Given the description of an element on the screen output the (x, y) to click on. 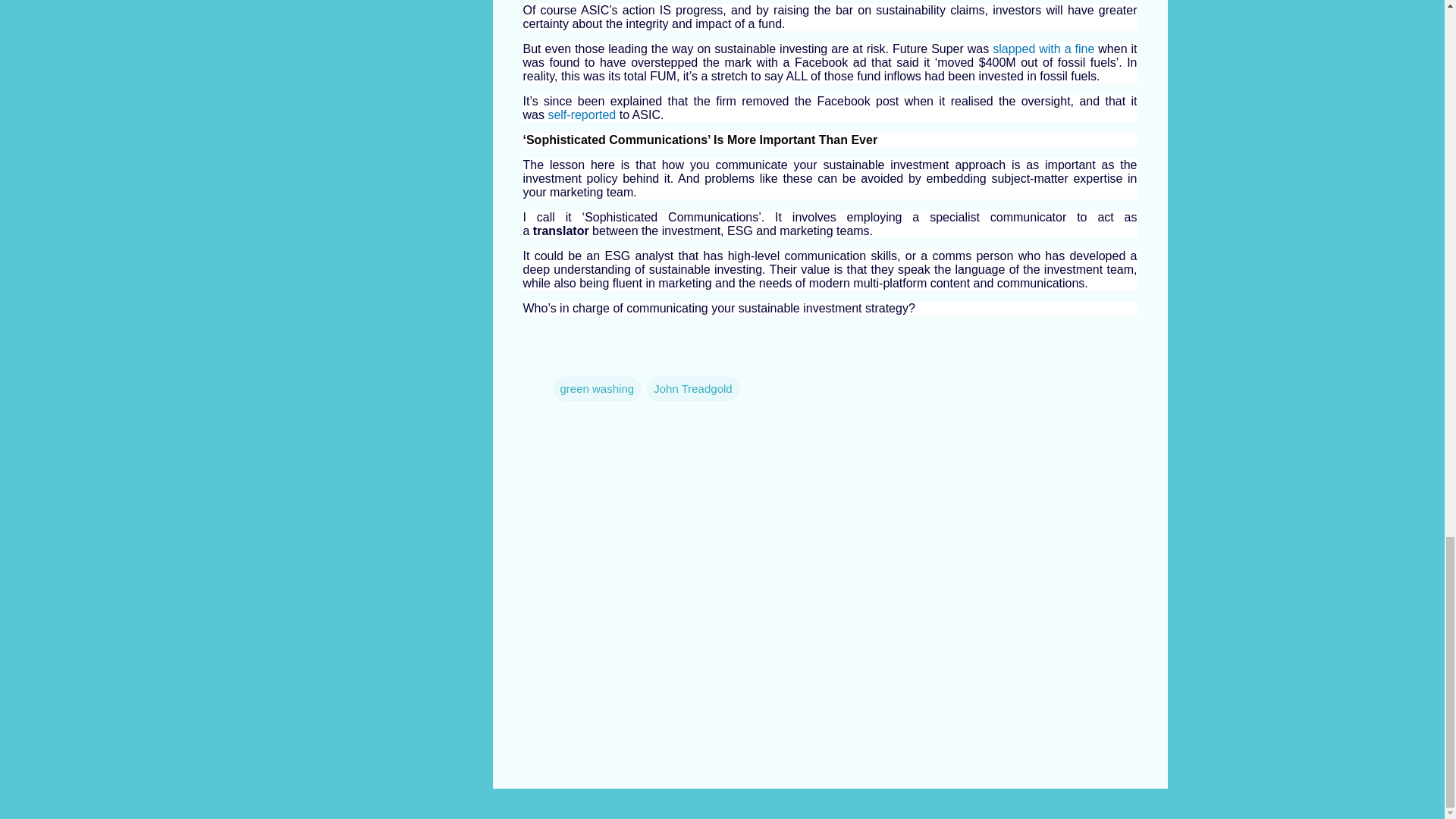
self-reported (581, 114)
slapped with a fine (1043, 48)
John Treadgold (692, 388)
green washing (597, 388)
